Given the description of an element on the screen output the (x, y) to click on. 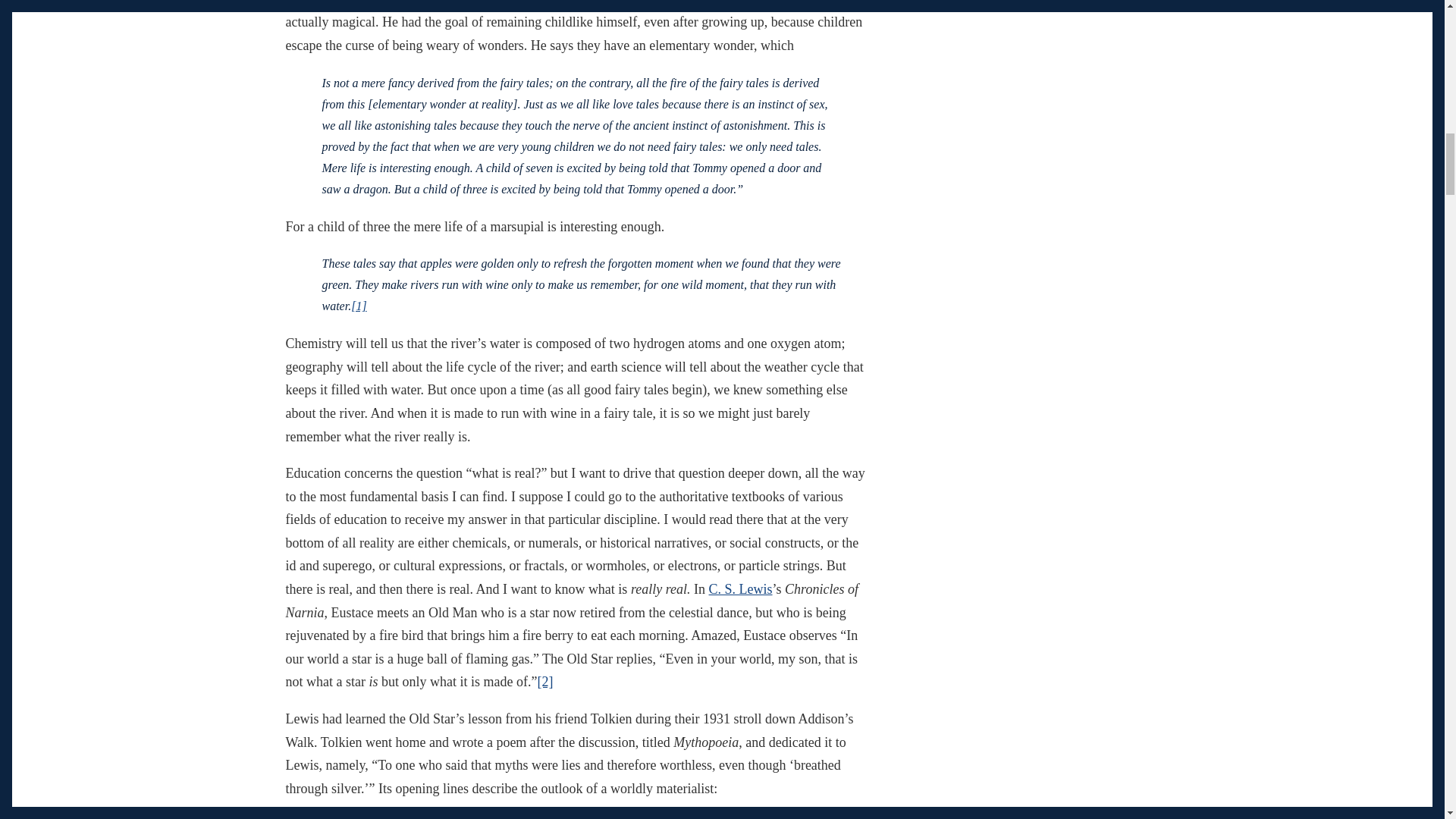
Chesterton (314, 3)
C. S. Lewis (741, 589)
